Given the description of an element on the screen output the (x, y) to click on. 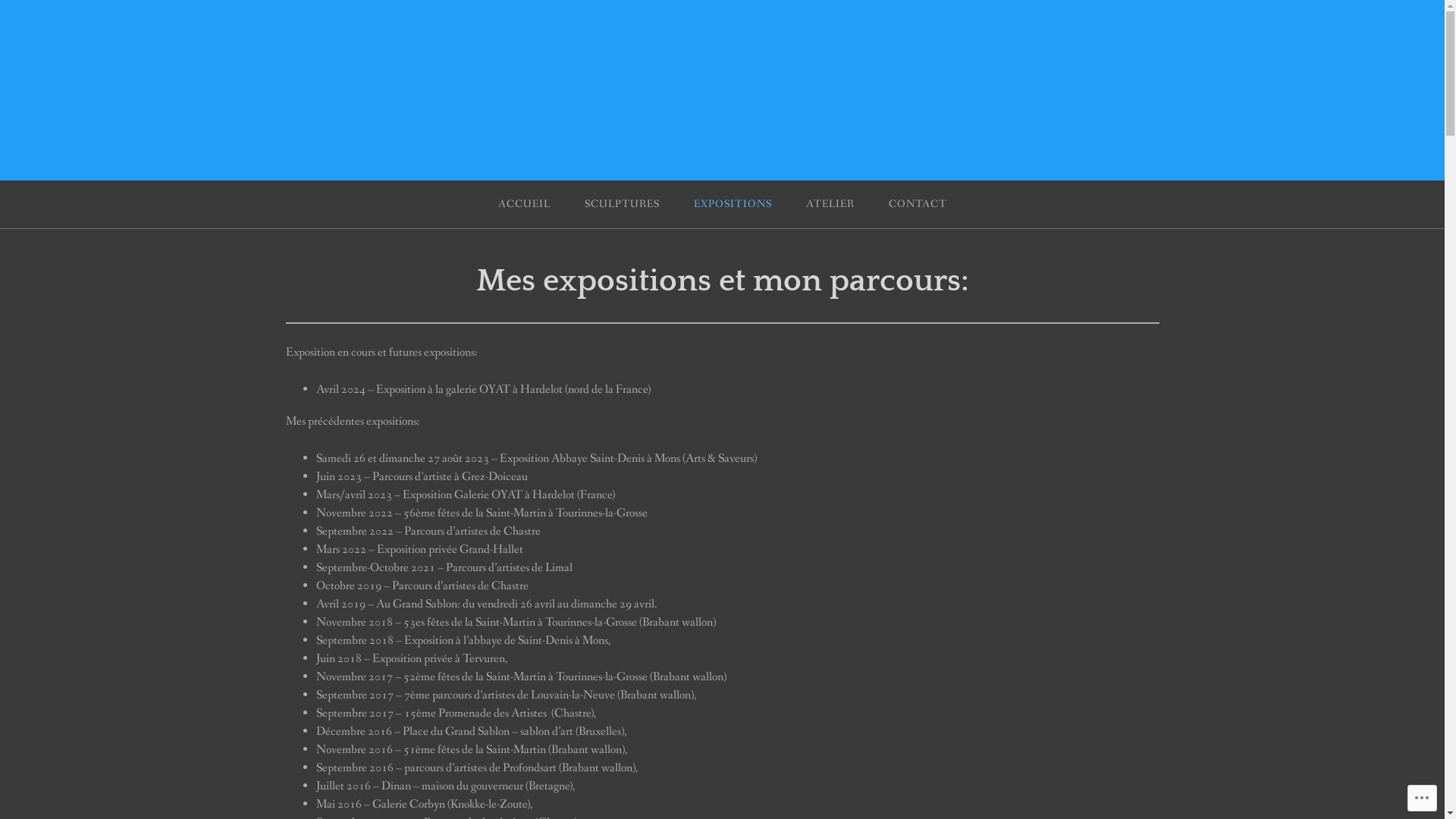
EXPOSITIONS Element type: text (732, 204)
Bearn Sculpture Element type: text (171, 79)
ACCUEIL Element type: text (524, 204)
CONTACT Element type: text (917, 204)
SCULPTURES Element type: text (621, 204)
ATELIER Element type: text (830, 204)
